Given the description of an element on the screen output the (x, y) to click on. 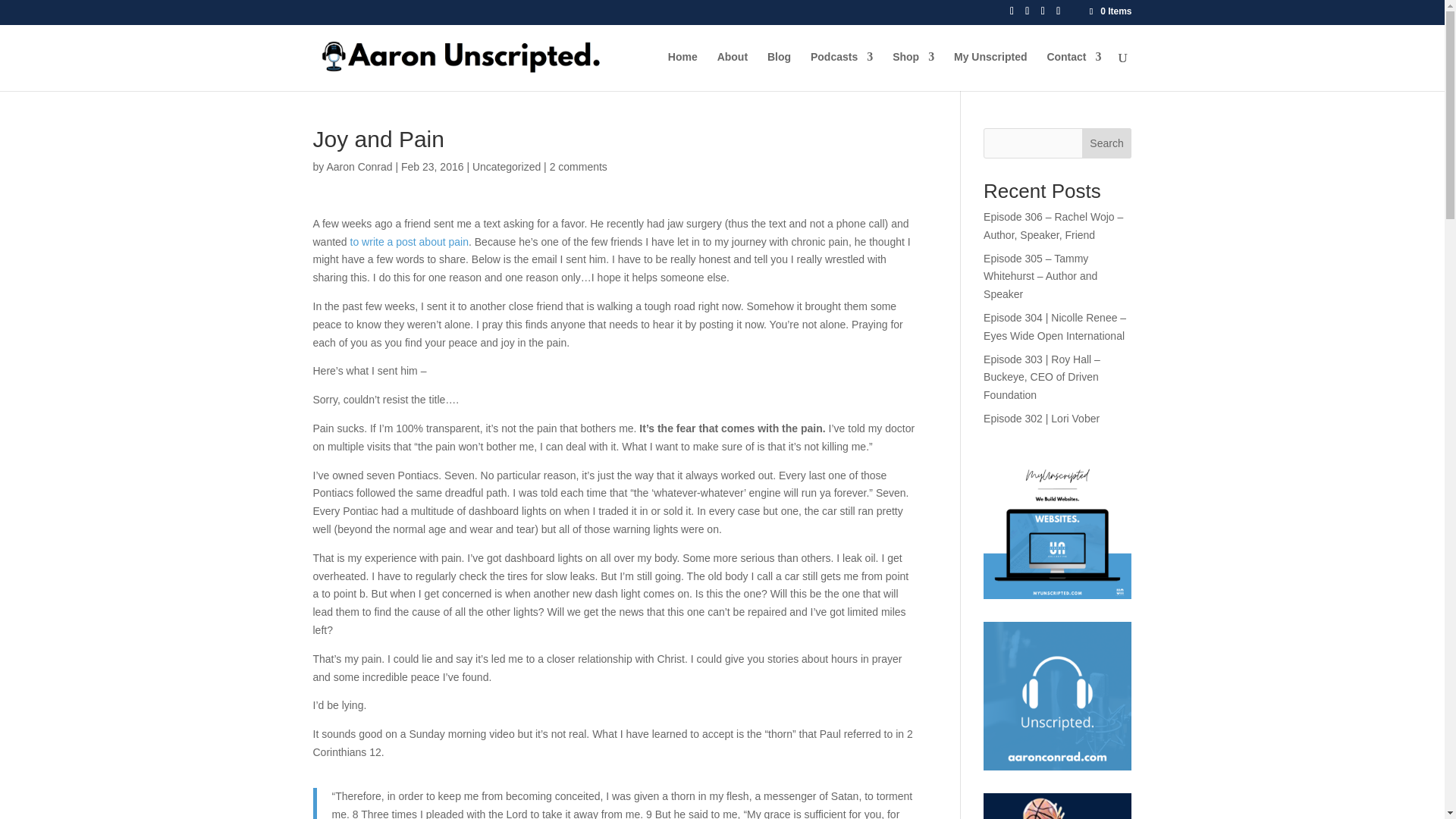
0 Items (1108, 10)
Shop (913, 70)
My Unscripted (989, 70)
Podcasts (841, 70)
Posts by Aaron Conrad (358, 166)
Contact (1073, 70)
